Given the description of an element on the screen output the (x, y) to click on. 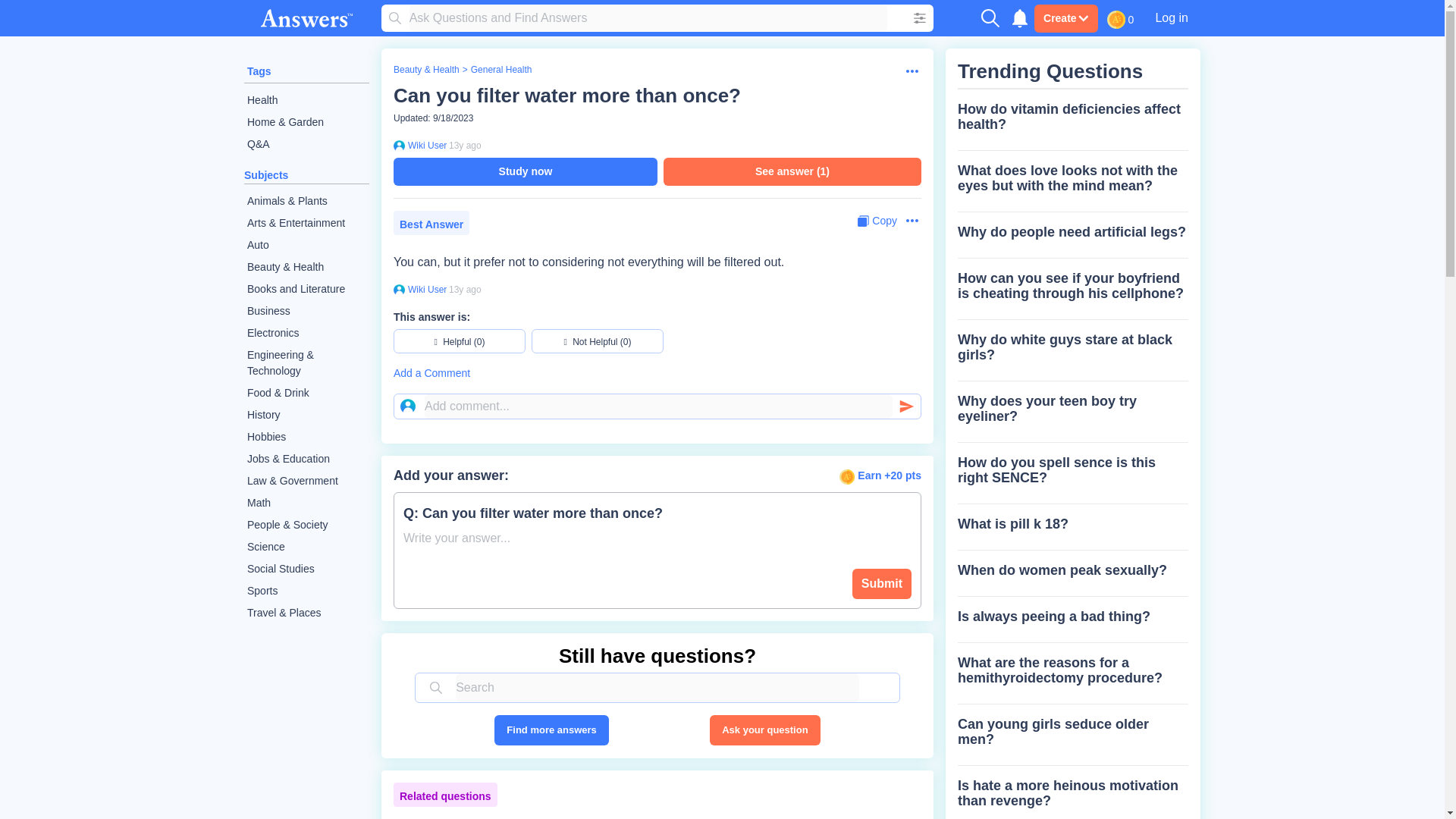
Math (306, 503)
Wiki User (425, 145)
Social Studies (306, 568)
Create (1065, 18)
Tags (258, 70)
Wiki User (425, 289)
2010-10-27 23:47:44 (464, 145)
Can you filter water more than once? (567, 95)
Copy (876, 220)
2010-10-27 23:47:44 (464, 289)
